Given the description of an element on the screen output the (x, y) to click on. 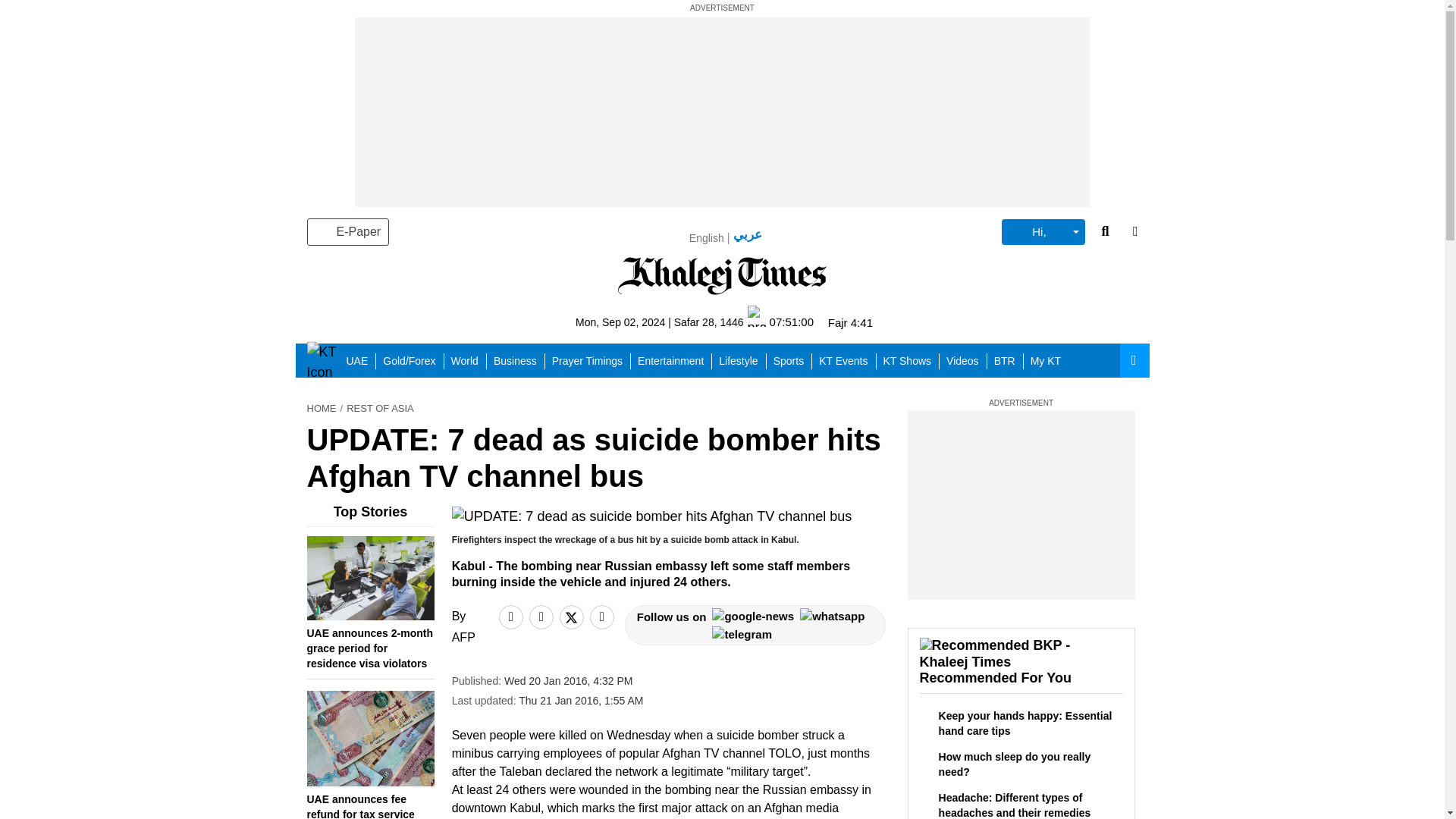
Fajr 4:41 (850, 322)
E-Paper (346, 231)
Hi, (1042, 232)
07:51:00 (780, 321)
